Given the description of an element on the screen output the (x, y) to click on. 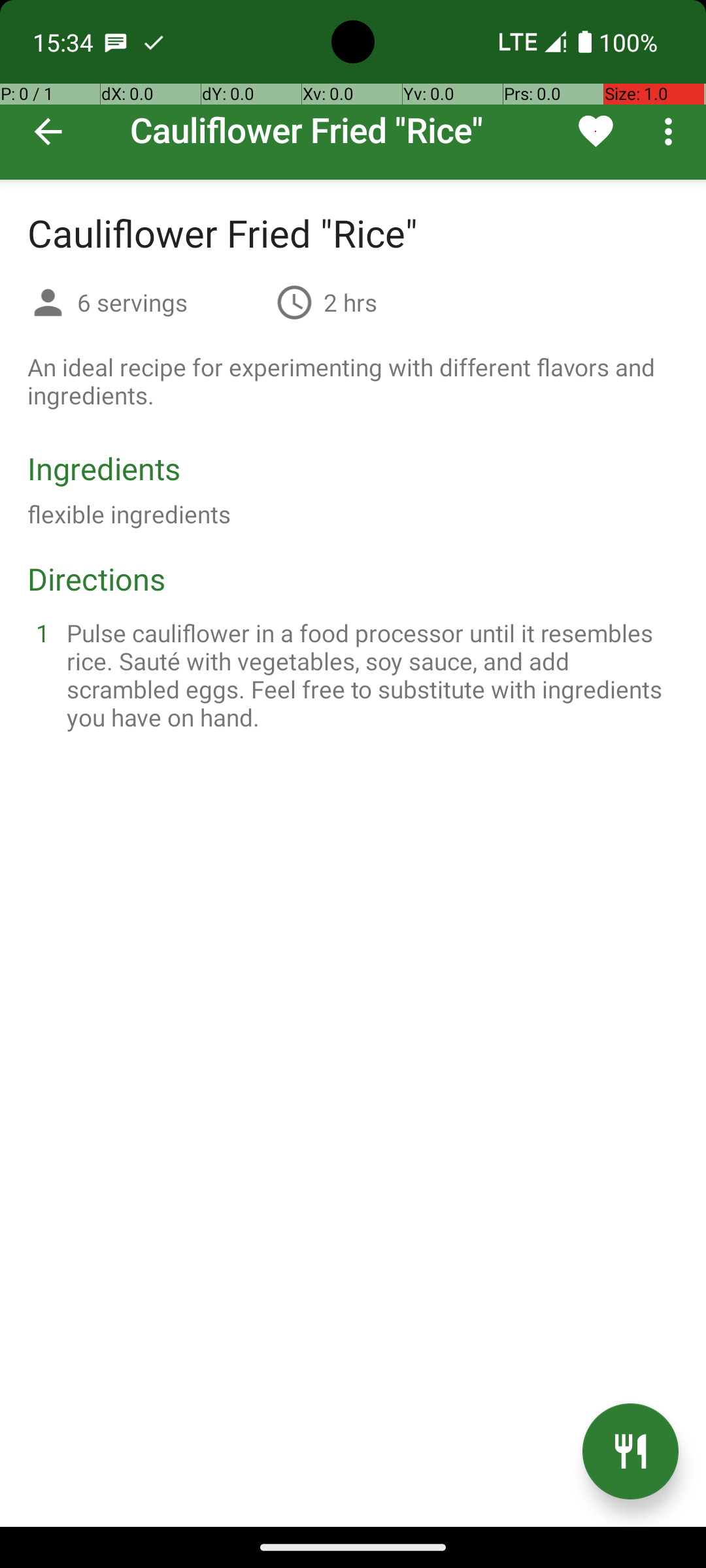
Pulse cauliflower in a food processor until it resembles rice. Sauté with vegetables, soy sauce, and add scrambled eggs. Feel free to substitute with ingredients you have on hand. Element type: android.widget.TextView (368, 674)
